Given the description of an element on the screen output the (x, y) to click on. 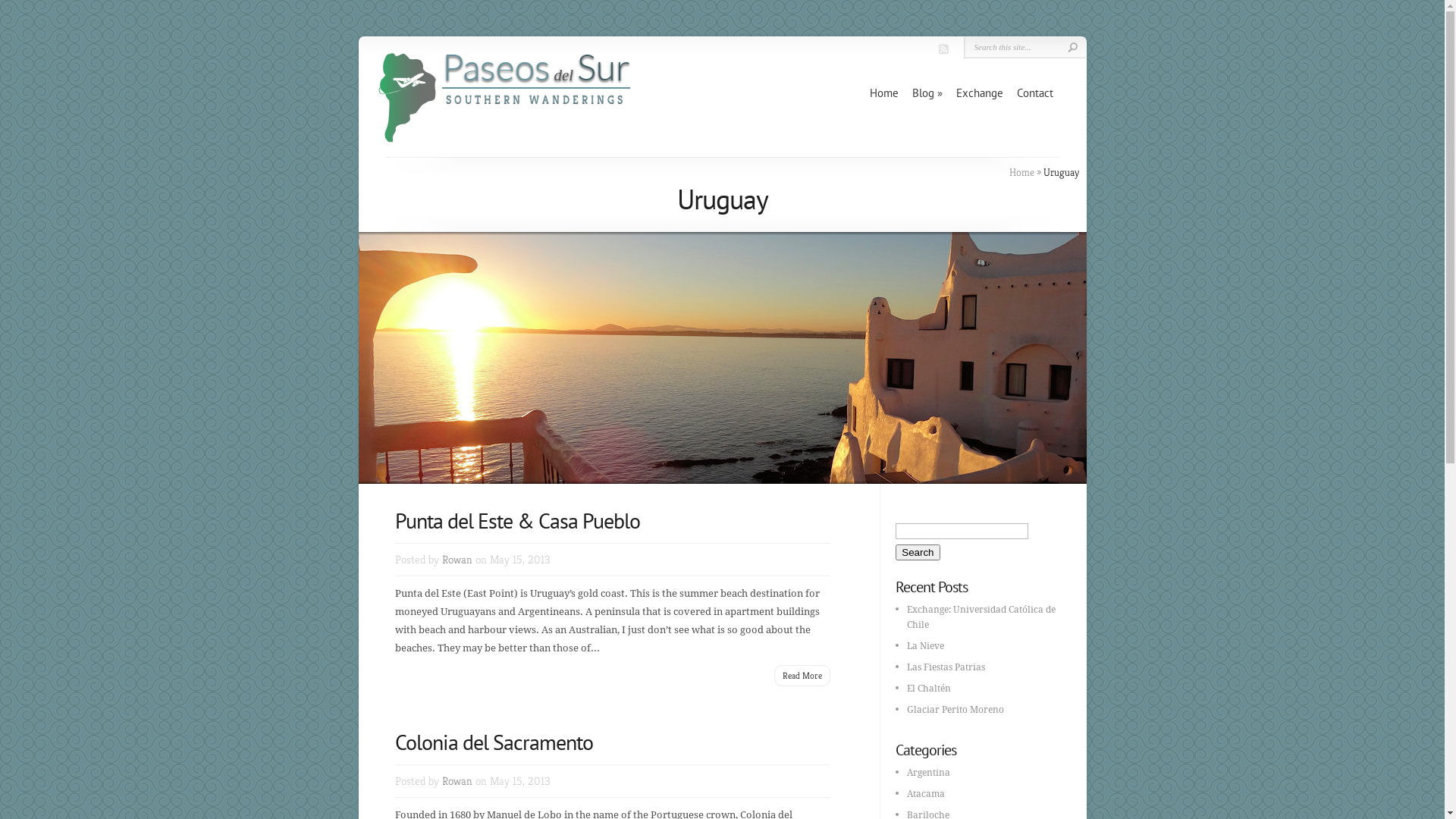
Glaciar Perito Moreno Element type: text (955, 709)
Punta del Este & Casa Pueblo Element type: text (516, 520)
Las Fiestas Patrias Element type: text (945, 667)
Read More Element type: text (802, 675)
Home Element type: text (1020, 171)
Argentina Element type: text (928, 772)
Atacama Element type: text (925, 793)
Exchange Element type: text (978, 92)
Rowan Element type: text (456, 559)
Search Element type: text (917, 552)
Colonia del Sacramento Element type: text (493, 742)
Rowan Element type: text (456, 780)
La Nieve Element type: text (925, 645)
Home Element type: text (883, 92)
Contact Element type: text (1034, 92)
